Given the description of an element on the screen output the (x, y) to click on. 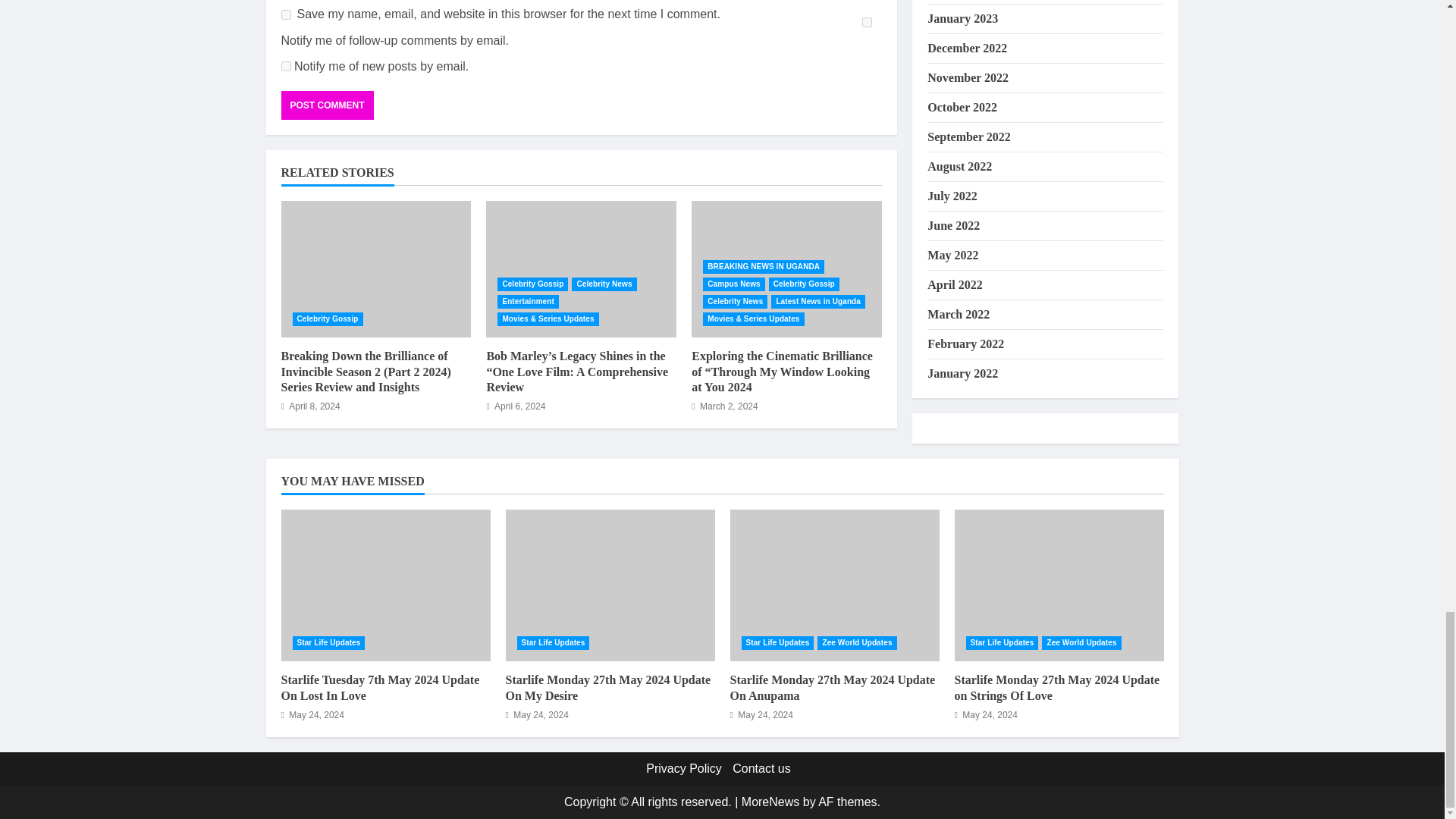
subscribe (866, 22)
subscribe (285, 66)
yes (285, 14)
Post Comment (326, 104)
